Given the description of an element on the screen output the (x, y) to click on. 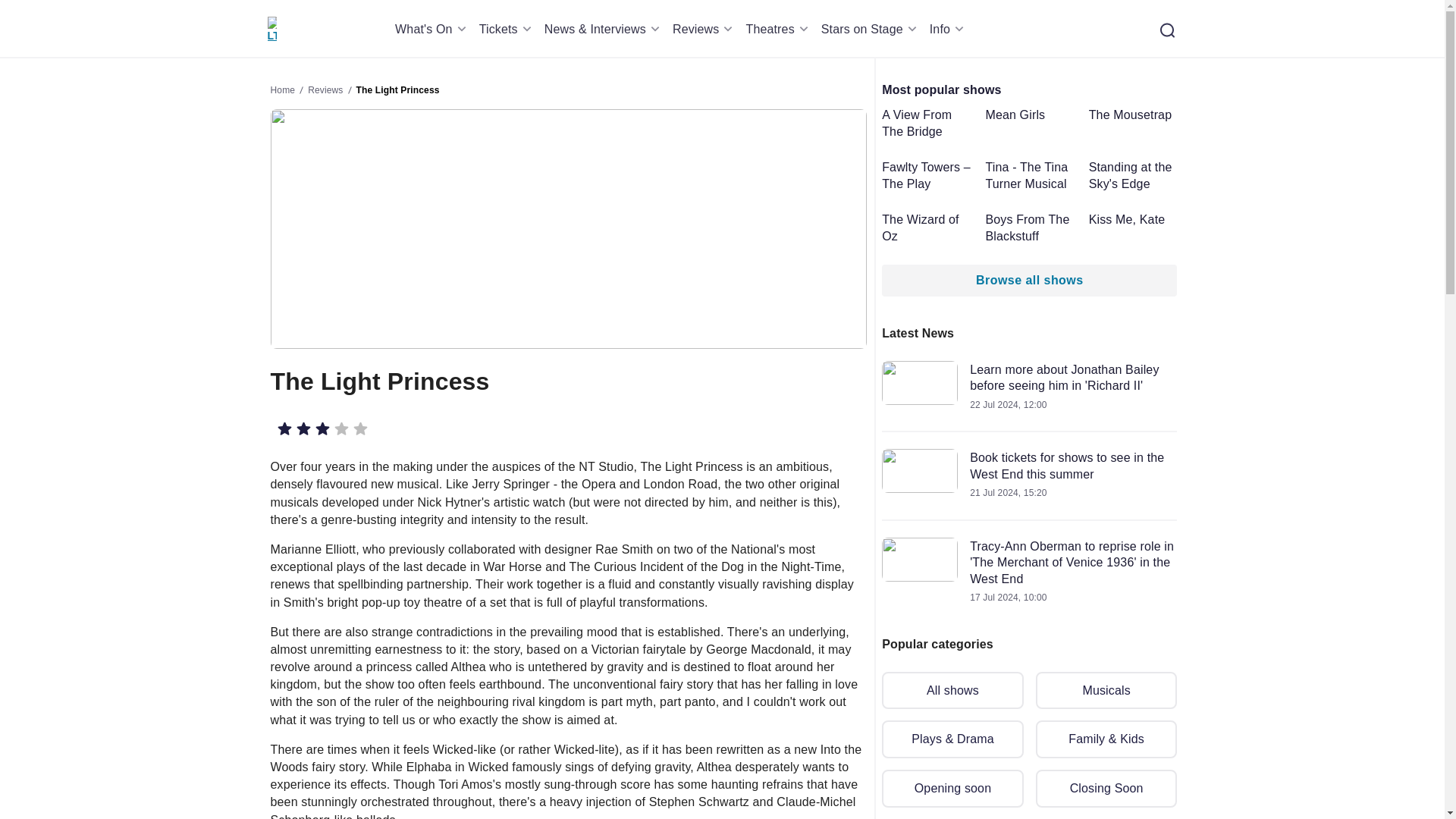
Tickets (508, 28)
Reviews (705, 28)
Read more about Standing at the Sky's Edge  (1133, 174)
Read more about A View From The Bridge (926, 123)
Read more about Boys From The Blackstuff (1029, 227)
What's On (432, 28)
Read more about Mean Girls (1029, 115)
Read more about Kiss Me, Kate (1133, 219)
Read more about Tina - The Tina Turner Musical (1029, 174)
Read more about The Mousetrap (1133, 115)
Read more about The Wizard of Oz (926, 227)
